Given the description of an element on the screen output the (x, y) to click on. 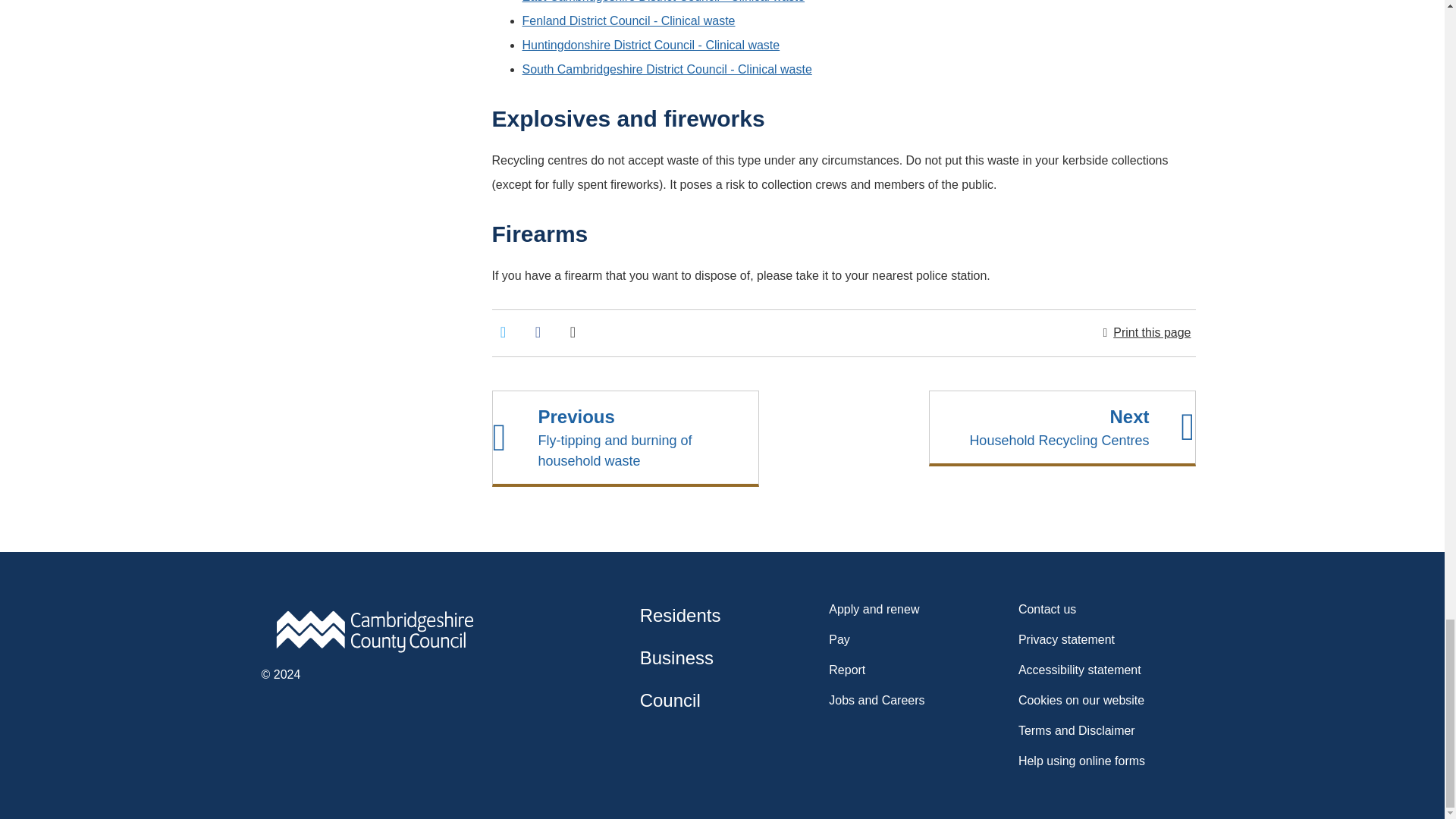
South Cambridgeshire District Council - Clinical waste (665, 69)
Huntingdonshire District Council - Clinical waste (649, 44)
East Cambridgeshire District Council - Clinical waste (663, 1)
Fenland District Council - Clinical waste (628, 20)
